Given the description of an element on the screen output the (x, y) to click on. 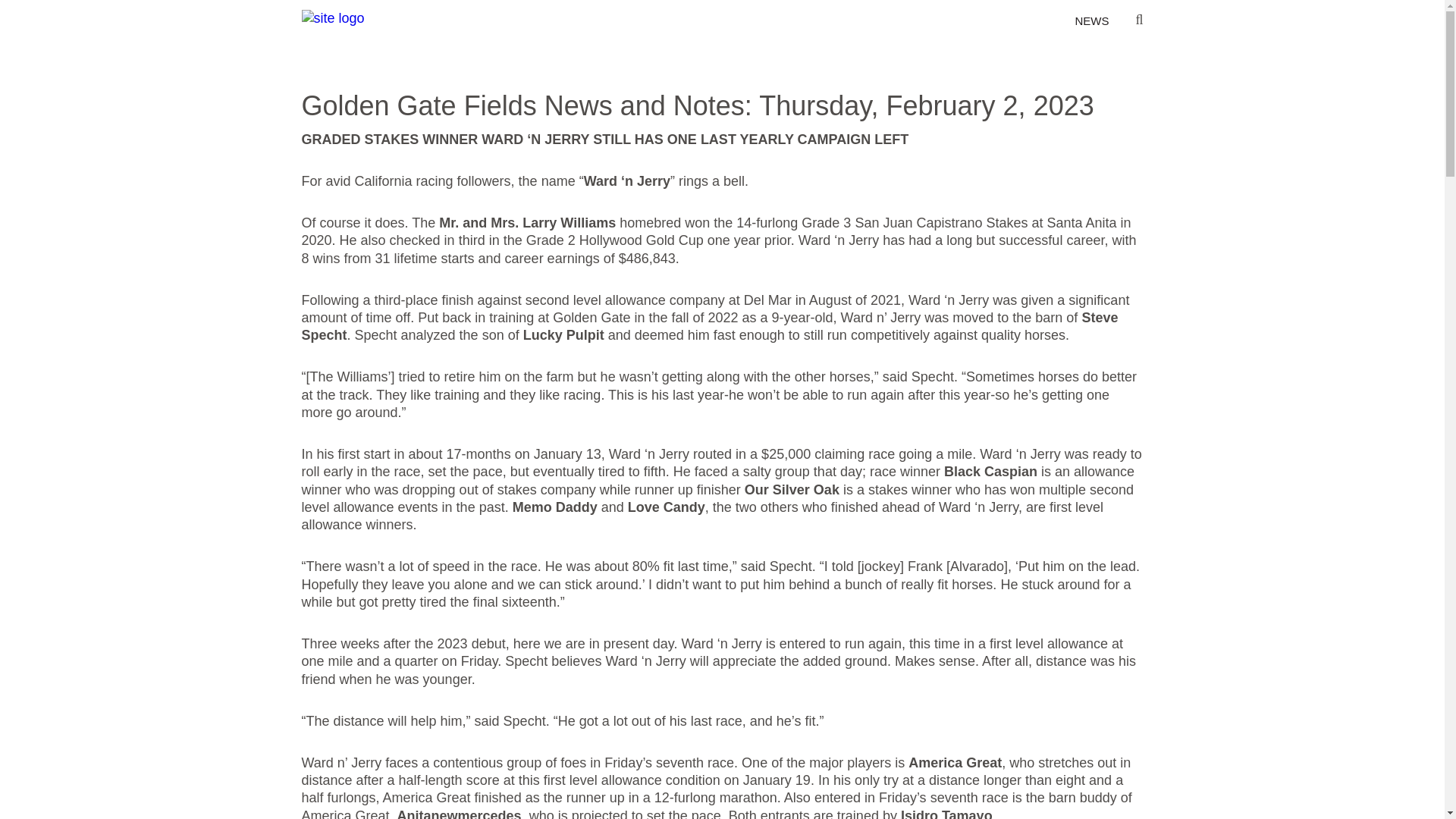
Golden Gate Fields (333, 17)
NEWS (1090, 20)
